Given the description of an element on the screen output the (x, y) to click on. 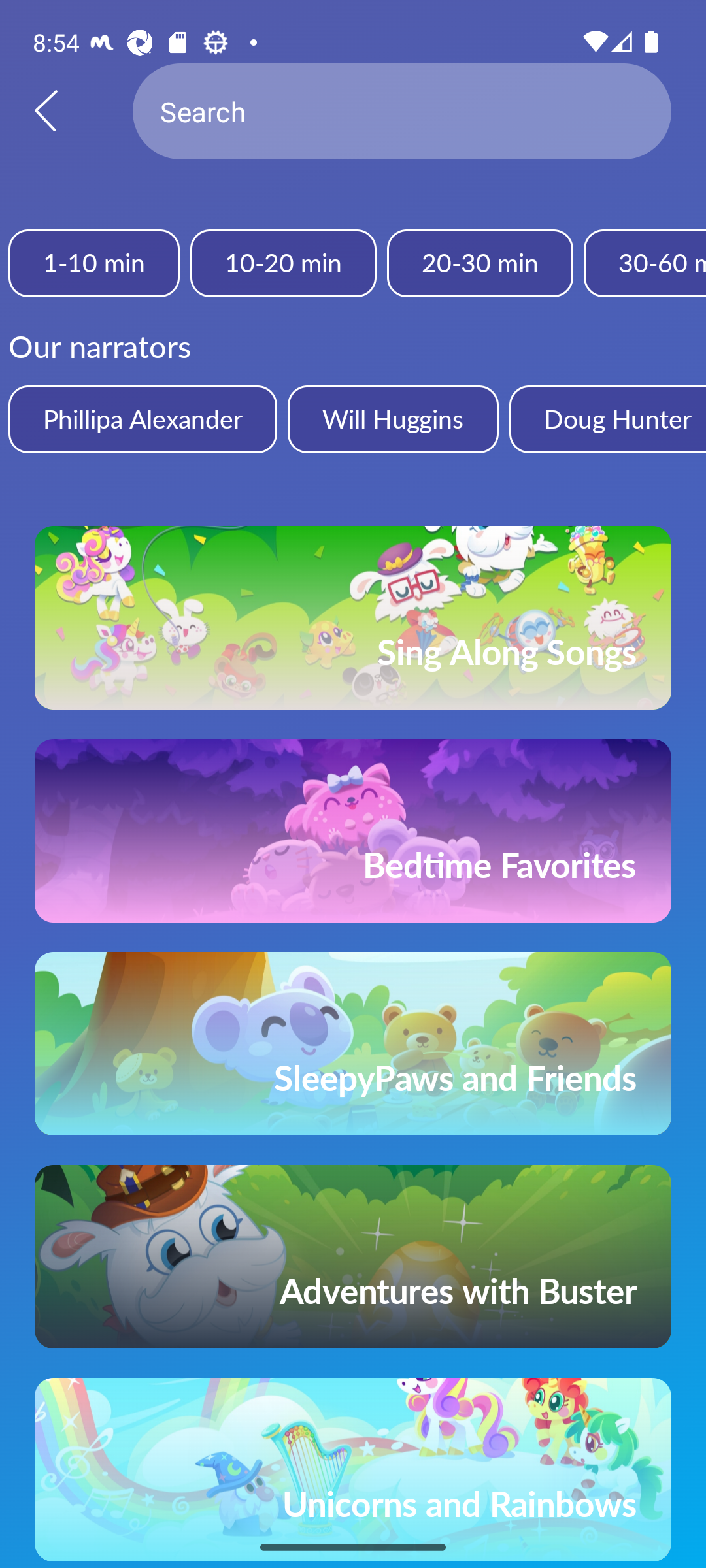
Search (401, 110)
1-10 min (94, 262)
10-20 min (282, 262)
20-30 min (479, 262)
30-60 min (644, 262)
Phillipa Alexander (142, 419)
Will Huggins (392, 419)
Doug Hunter (607, 419)
Sing Along Songs (352, 616)
Bedtime Favorites (352, 829)
SleepyPaws and Friends (352, 1043)
Adventures with Buster (352, 1256)
Unicorns and Rainbows (352, 1469)
